Given the description of an element on the screen output the (x, y) to click on. 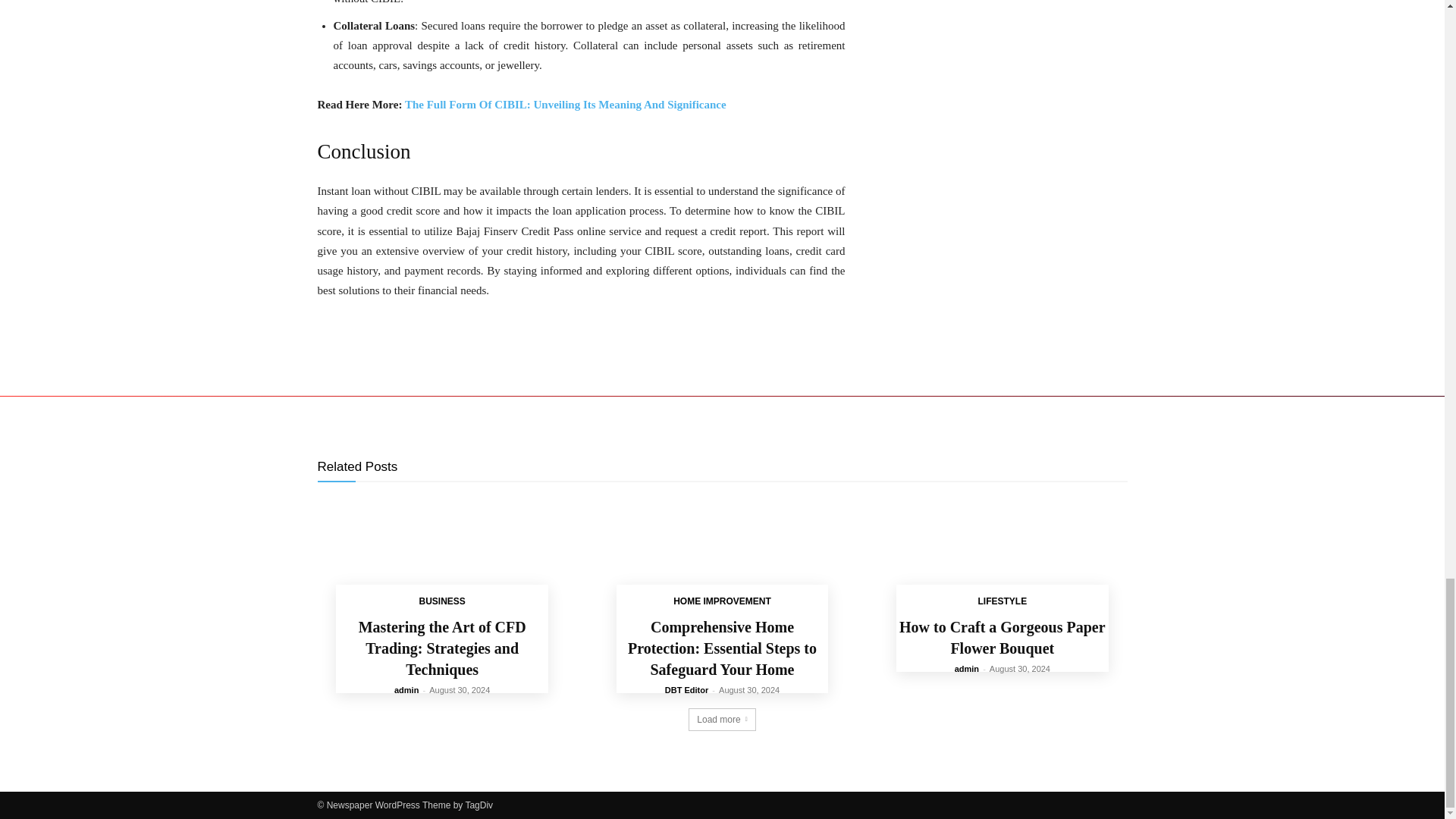
How to Craft a Gorgeous Paper Flower Bouquet (1001, 559)
Mastering the Art of CFD Trading: Strategies and Techniques (441, 559)
Mastering the Art of CFD Trading: Strategies and Techniques (441, 648)
How to Craft a Gorgeous Paper Flower Bouquet (1002, 637)
